Given the description of an element on the screen output the (x, y) to click on. 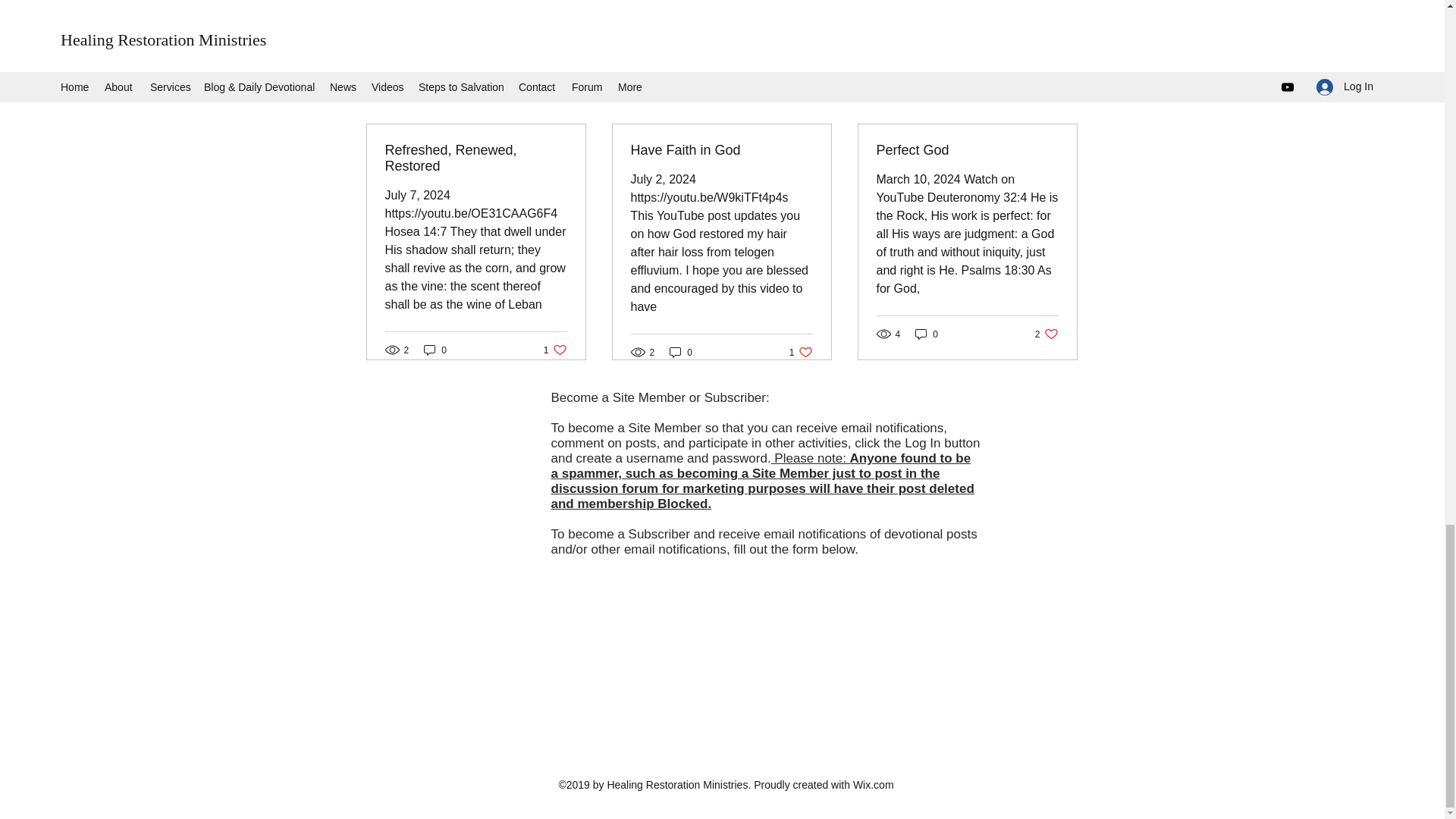
0 (681, 351)
See All (1046, 333)
Post not marked as liked (555, 350)
Refreshed, Renewed, Restored (1061, 97)
Have Faith in God (800, 351)
0 (995, 14)
0 (476, 158)
Perfect God (721, 150)
